Given the description of an element on the screen output the (x, y) to click on. 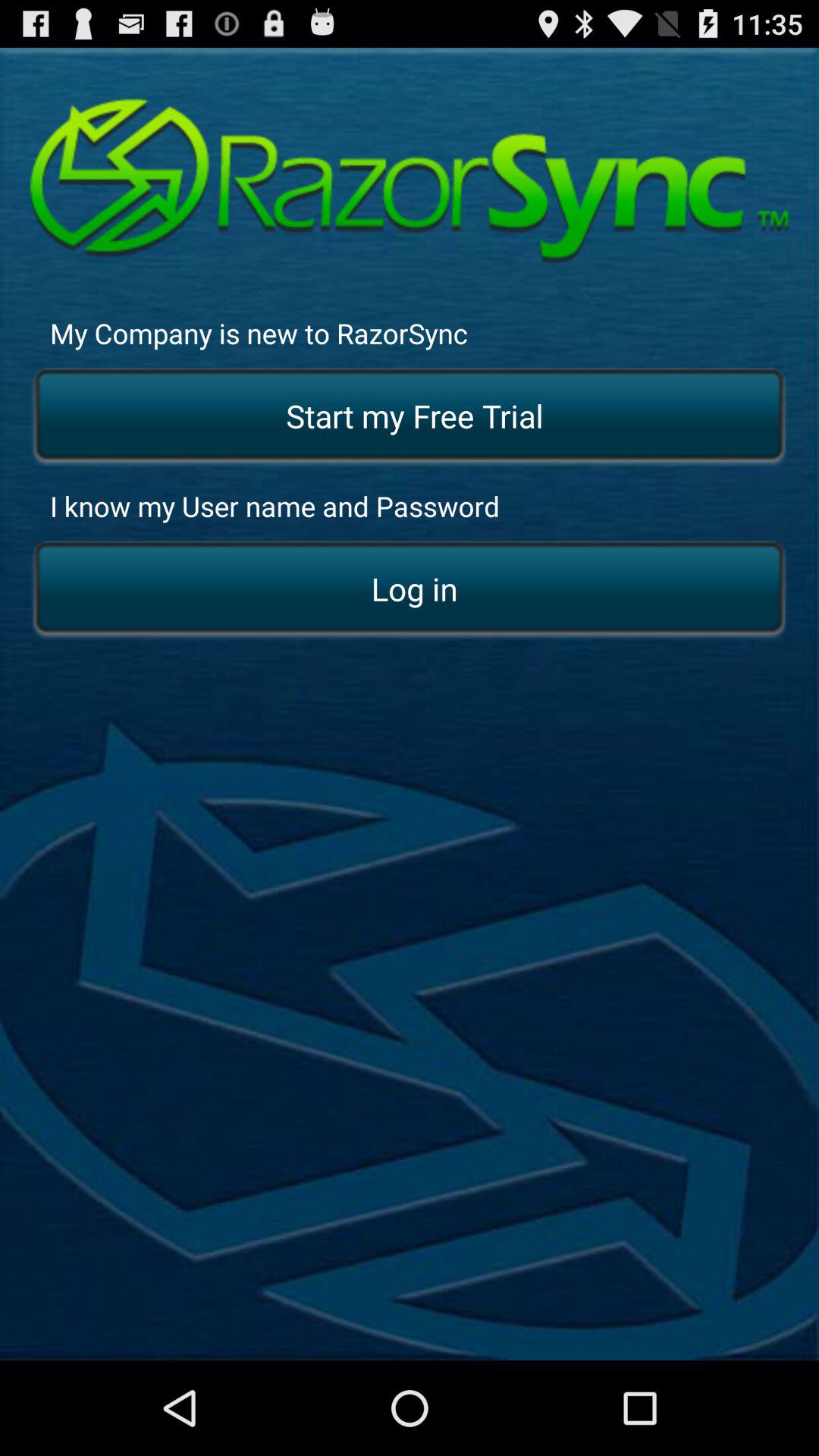
open the log in (409, 590)
